Given the description of an element on the screen output the (x, y) to click on. 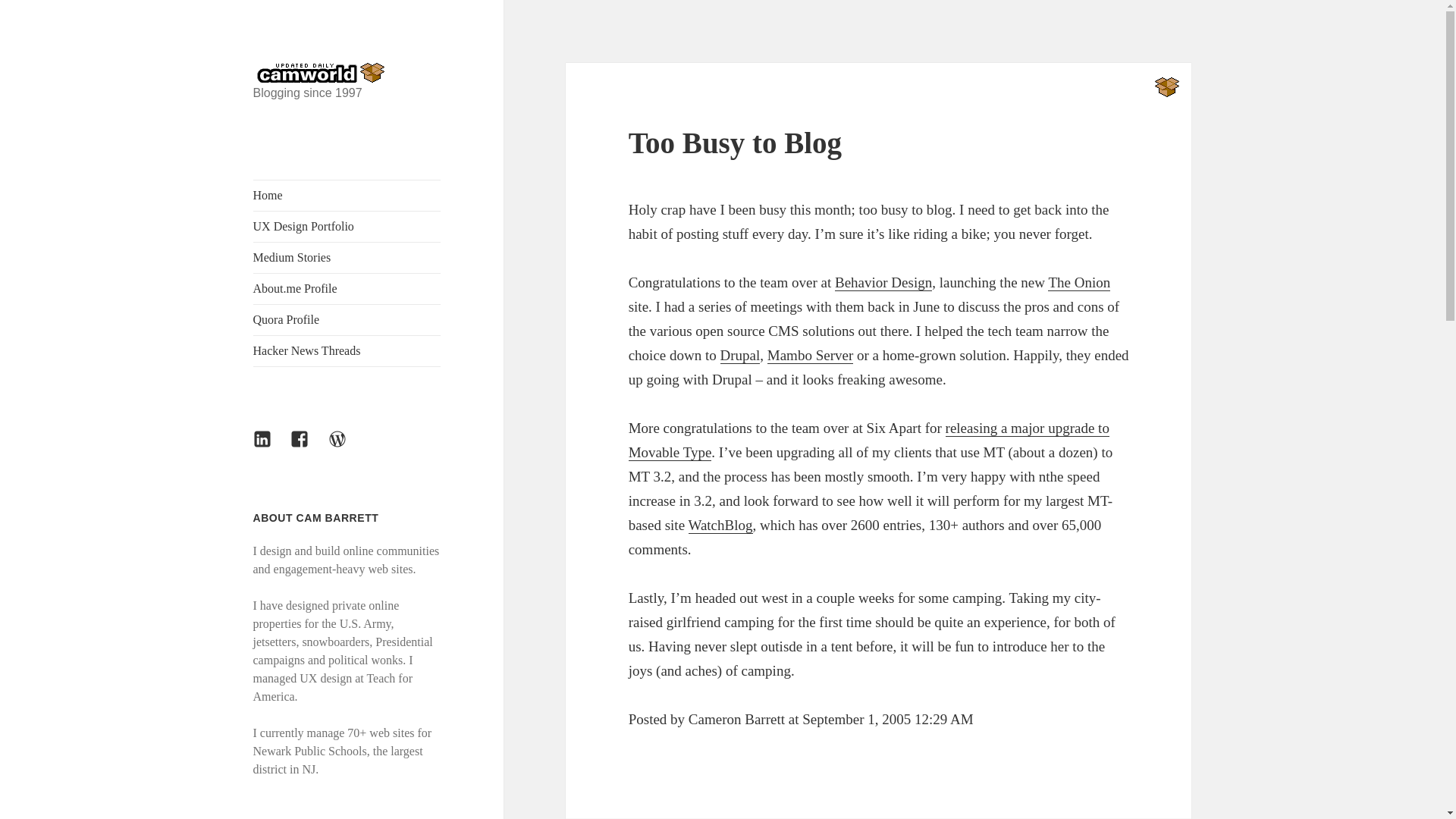
About.me Profile (347, 288)
Quora Profile (347, 319)
WordPress.org Profile (347, 447)
UX Design Portfolio (347, 226)
Facebook Feed (307, 447)
Behavior Design (882, 282)
Home (347, 195)
Mambo Server (810, 355)
LinkedIn Profile (271, 447)
WatchBlog (720, 524)
